Given the description of an element on the screen output the (x, y) to click on. 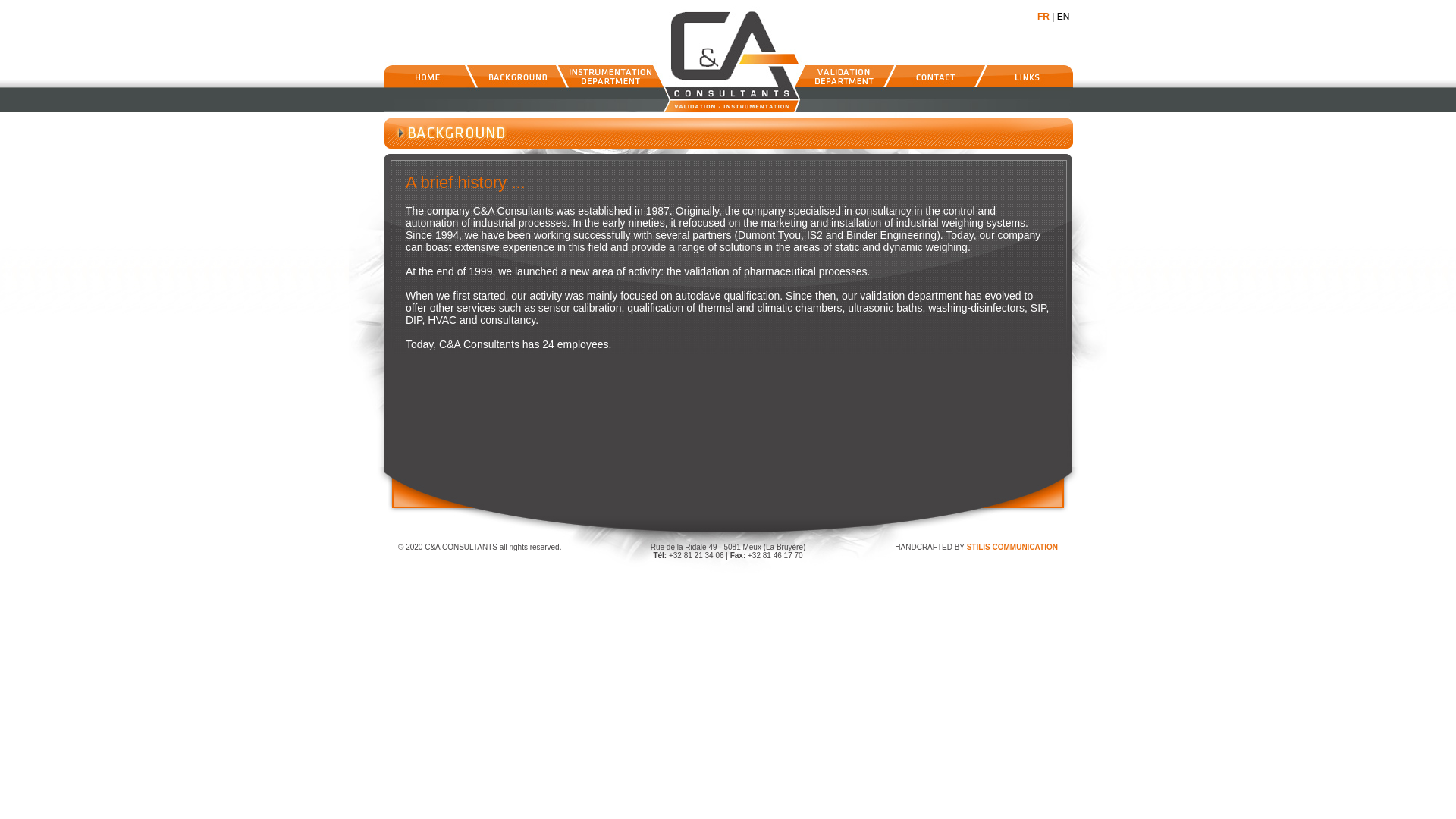
FR Element type: text (1043, 16)
STILIS COMMUNICATION Element type: text (1011, 546)
